Given the description of an element on the screen output the (x, y) to click on. 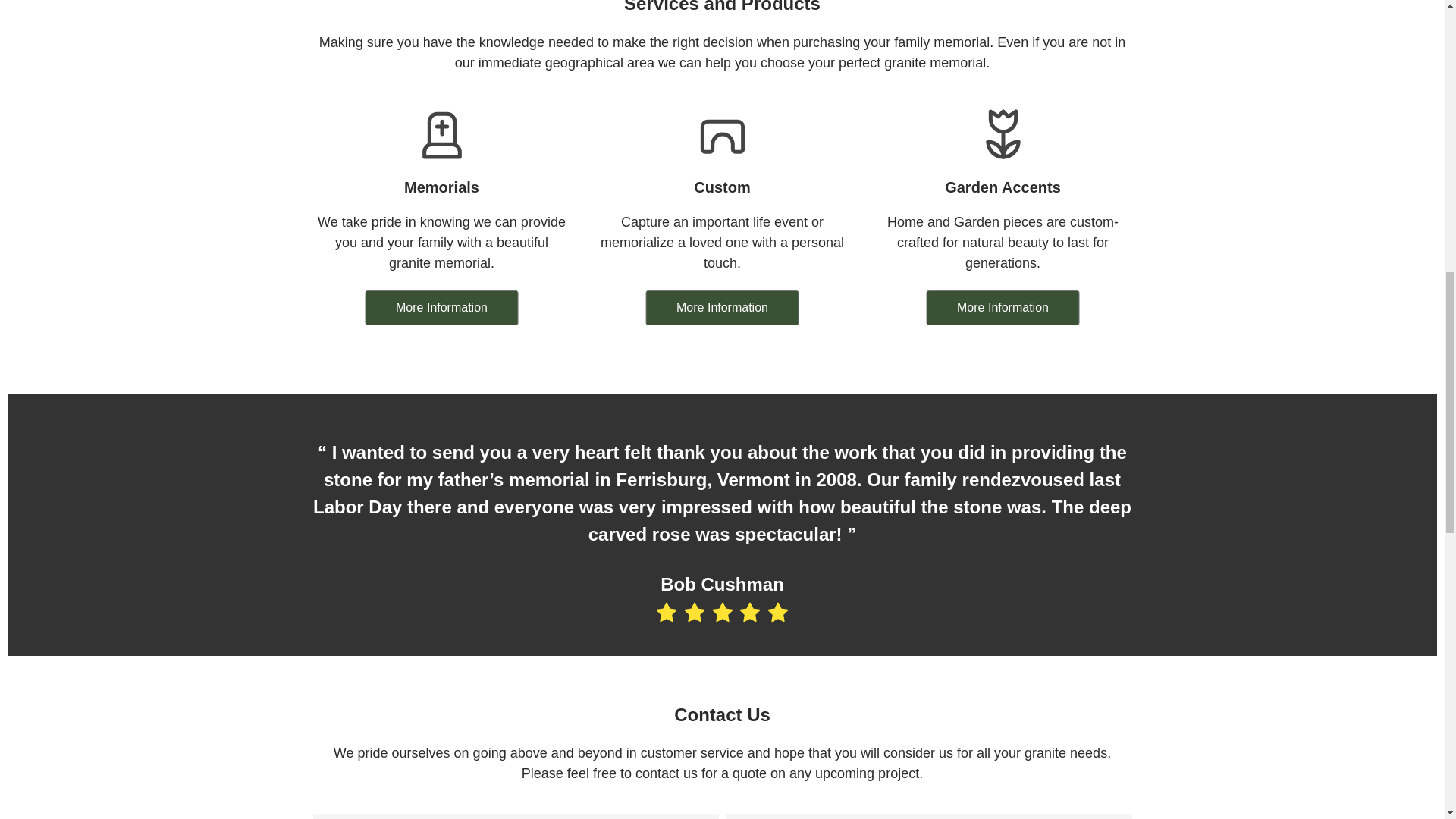
More Information (722, 307)
More Information (1003, 307)
More Information (441, 307)
